Given the description of an element on the screen output the (x, y) to click on. 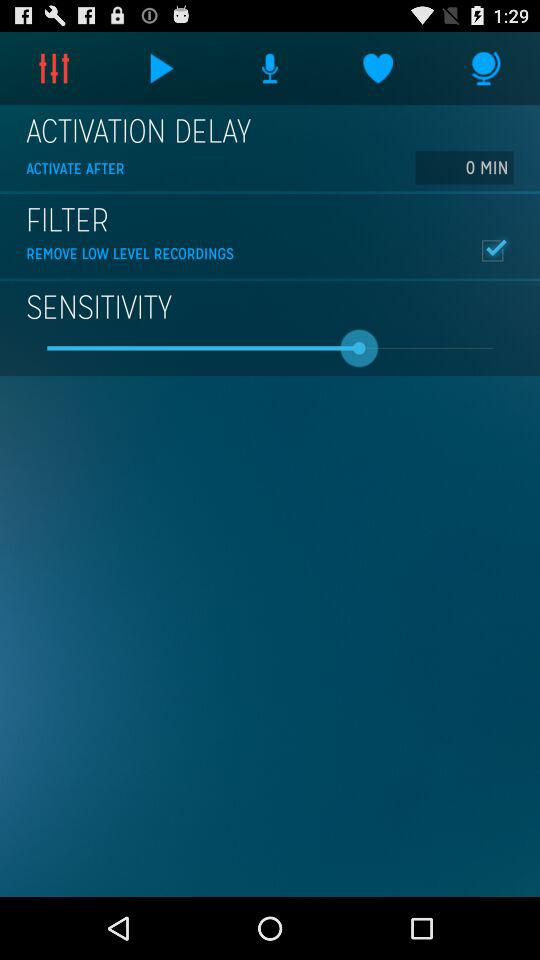
press icon to the right of the remove low level item (492, 250)
